Given the description of an element on the screen output the (x, y) to click on. 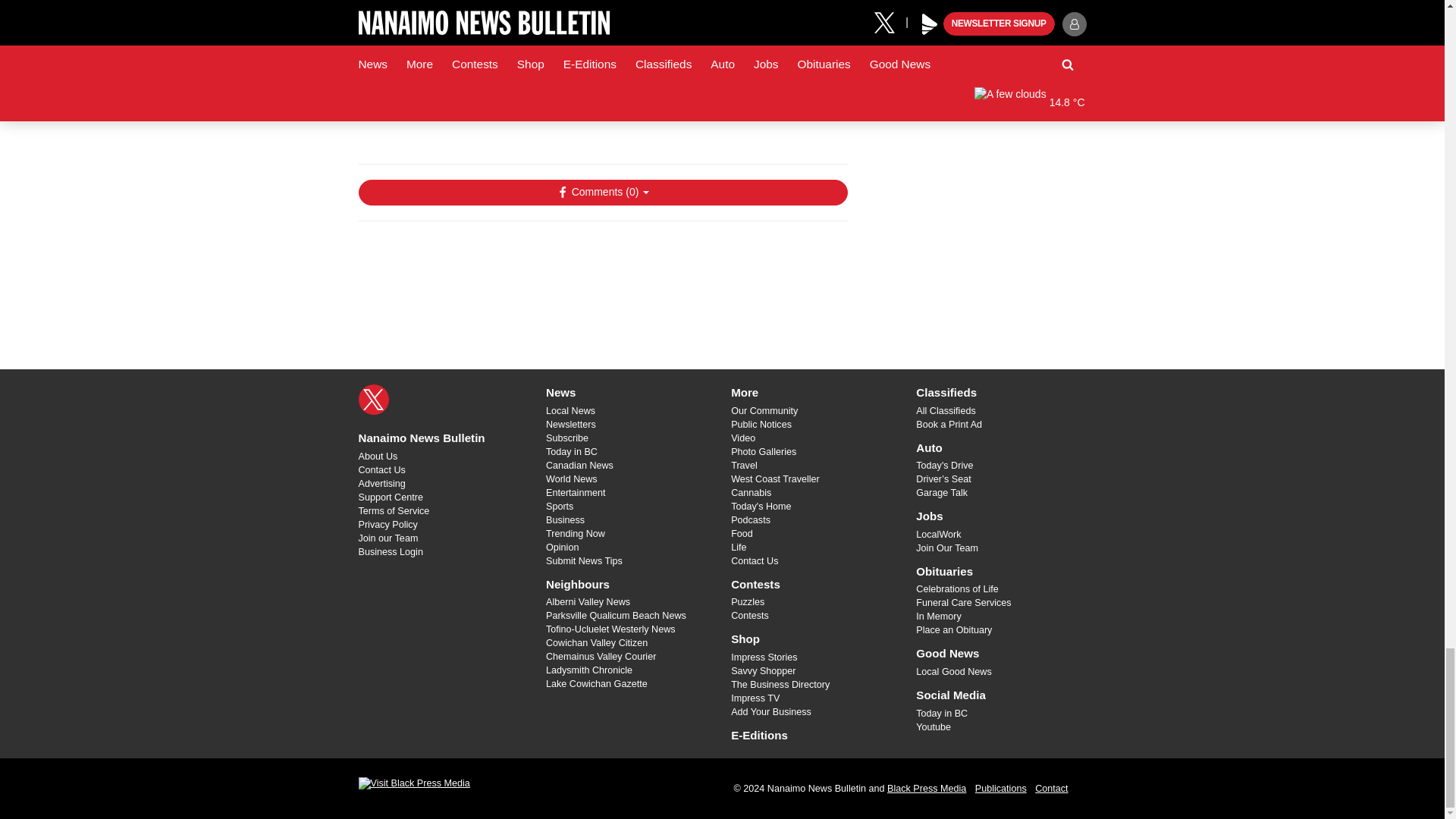
Show Comments (602, 192)
X (373, 399)
